Given the description of an element on the screen output the (x, y) to click on. 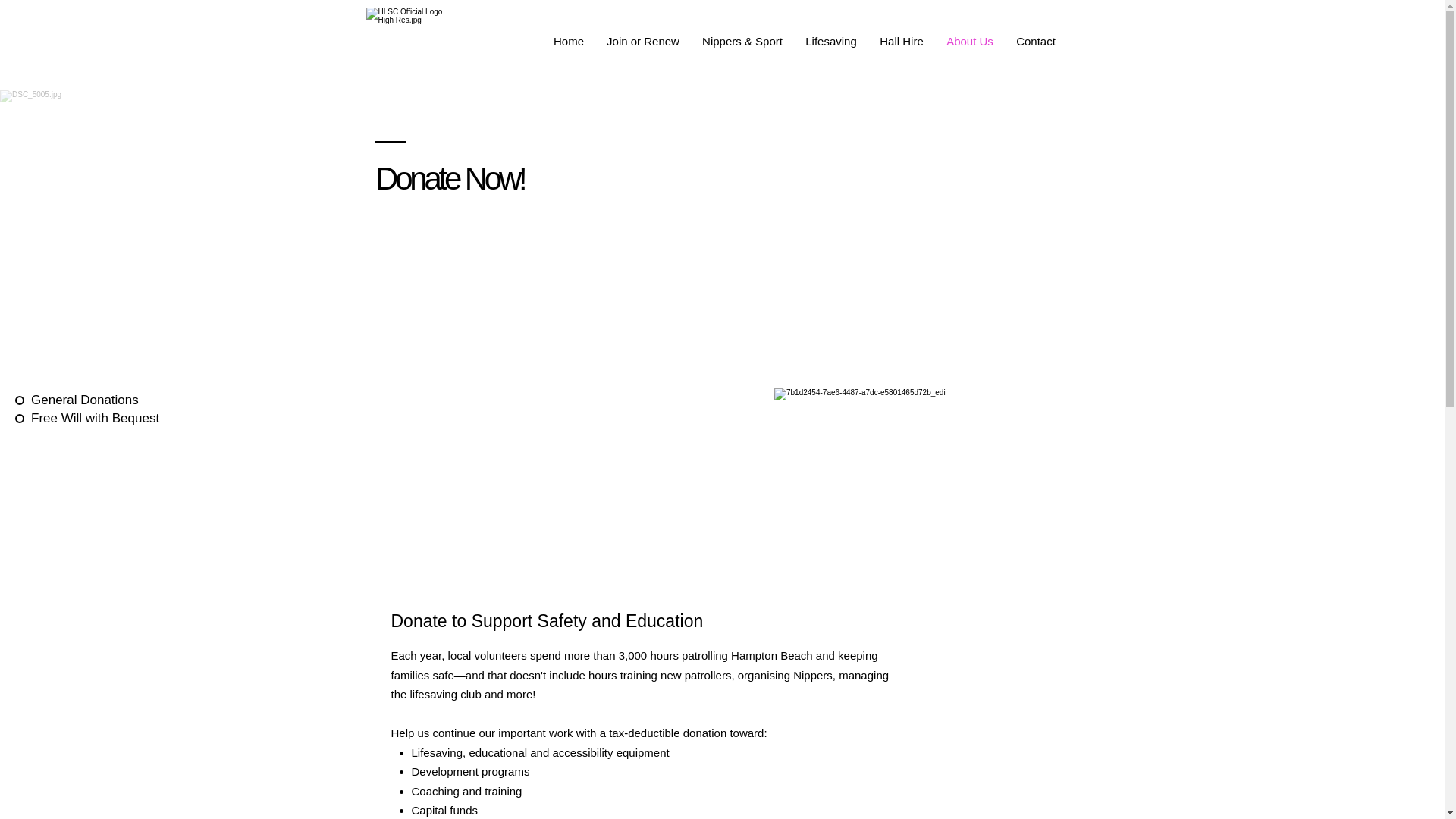
About Us Element type: text (969, 40)
Home Element type: text (568, 40)
Nippers & Sport Element type: text (741, 40)
Free Will with Bequest Element type: text (90, 418)
Lifesaving Element type: text (830, 40)
Contact Element type: text (1035, 40)
General Donations Element type: text (90, 400)
Hall Hire Element type: text (901, 40)
Join or Renew Element type: text (642, 40)
